Given the description of an element on the screen output the (x, y) to click on. 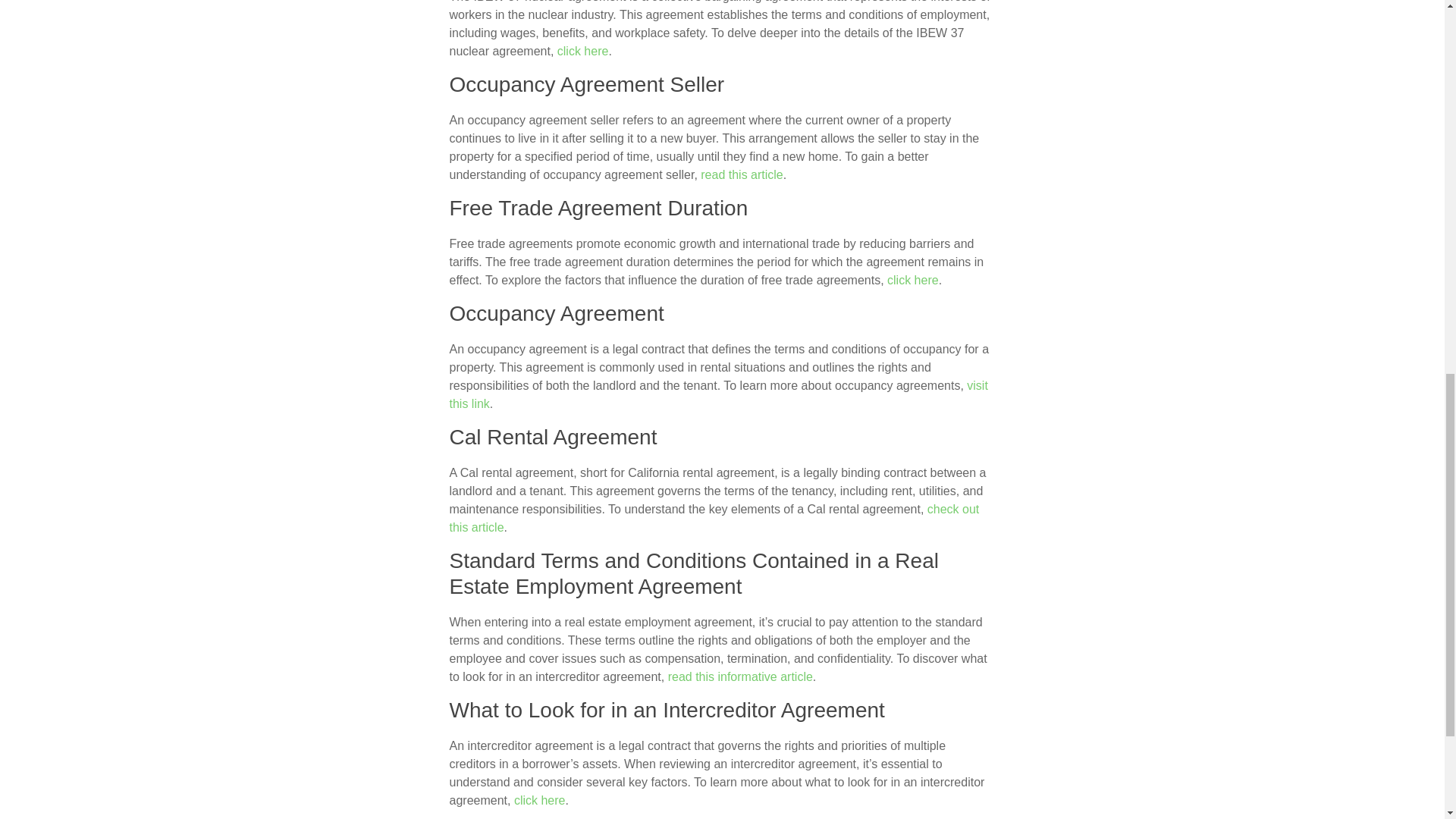
click here (582, 51)
click here (539, 799)
read this informative article (740, 676)
check out this article (713, 517)
click here (912, 279)
visit this link (717, 394)
read this article (741, 174)
